Given the description of an element on the screen output the (x, y) to click on. 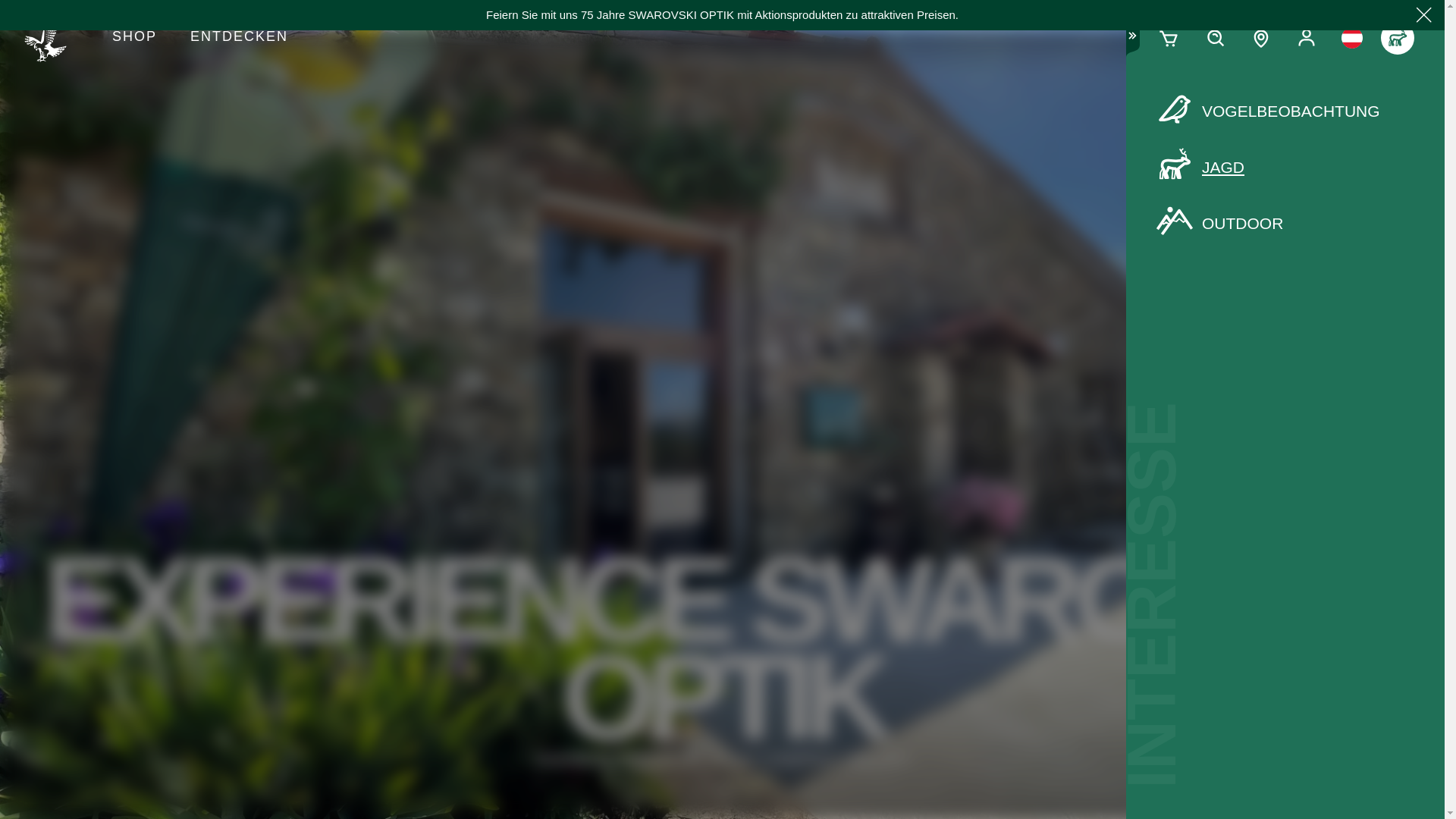
VOGELBEOBACHTUNG (1284, 110)
SUCHE (1215, 37)
Shop (134, 37)
INTERESSE (1397, 37)
JAGD (1284, 167)
WARENKORB (1169, 37)
SHOP (134, 37)
KONTO (1306, 37)
Swarovski Optik (51, 38)
LAND (1351, 37)
